Given the description of an element on the screen output the (x, y) to click on. 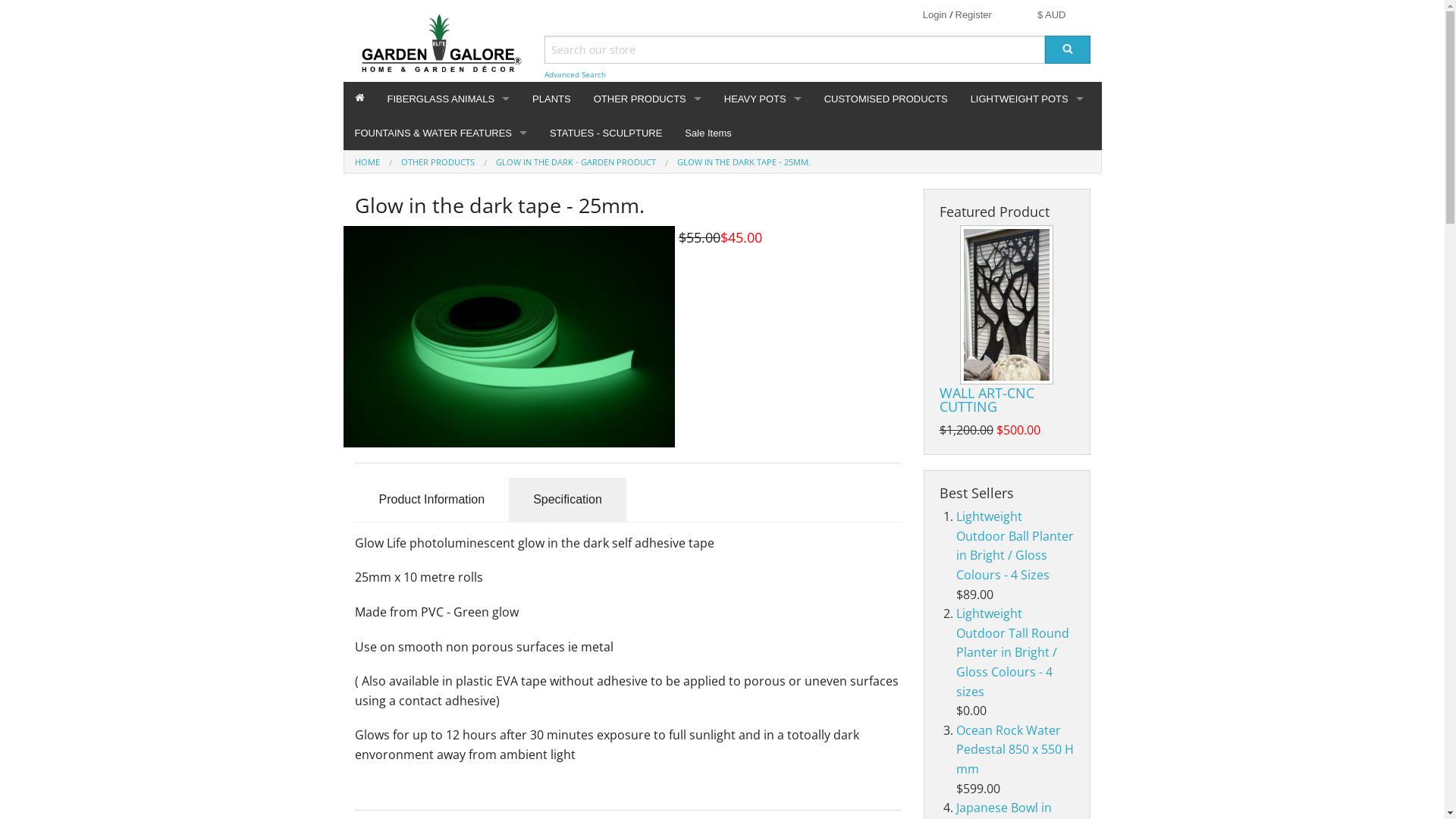
CLAY - OCEAN ROCK POTS Element type: text (762, 254)
Home Element type: hover (358, 98)
HEAVY POTS Element type: text (762, 98)
Wall Fountains & Aquarium Element type: text (440, 288)
GLOW IN THE DARK - GARDEN PRODUCT Element type: text (647, 220)
CLAY - OLD STONE POTS Element type: text (762, 220)
GRC Fountains & Water Features Element type: text (440, 220)
Product Information Element type: text (431, 499)
GLOW IN THE DARK - GARDEN PRODUCT Element type: text (575, 161)
Ocean Rock & Marble Water Fountain Element type: text (440, 322)
Register Element type: text (973, 14)
Login Element type: text (934, 14)
NEW PRODUCTS Element type: text (647, 186)
Specification Element type: text (567, 499)
CUSTOMISED PRODUCTS Element type: text (885, 98)
FIBERGLASS -BRIGHT COLOUR POTS Element type: text (1027, 151)
FIBERGLASS ANIMALS Element type: text (448, 98)
LIGHTWEIGHT POTS Element type: text (1027, 98)
Feature Urn/ Potatank. Element type: text (440, 186)
Search Element type: text (1067, 49)
FIBERGLASS TERRAZZO POTS Element type: text (1027, 220)
WALL ART-CNC CUTTING Element type: text (985, 399)
GLAZED CLAY - COLOUR POTS Element type: text (762, 151)
STATUES - SCULPTURE Element type: text (605, 133)
FURNITURE Element type: text (647, 322)
Sale Items Element type: text (707, 133)
PLANTS Element type: text (551, 98)
HOME & GARDEN DECOR Element type: text (647, 356)
VILLA SERIES POTS Element type: text (762, 288)
HOME Element type: text (366, 161)
ART & COLLECTABLES Element type: text (647, 288)
GLOW IN THE DARK TAPE - 25MM. Element type: text (742, 161)
ACCESSORIES & MISCELLANEOUS Element type: text (647, 151)
OTHER PRODUCTS Element type: text (647, 98)
FIBERGLASS ANIMALS & FIGURINES Element type: text (448, 151)
Ocean Rock Water Pedestal 850 x 550 H mm Element type: text (1014, 749)
Advanced Search Element type: text (574, 74)
TERRACOTTA PLANTERS Element type: text (762, 186)
GRC POTS Element type: text (1027, 186)
WALL ART Element type: text (647, 254)
FOUNTAINS & WATER FEATURES Element type: text (440, 133)
OTHER PRODUCTS Element type: text (436, 161)
Small Bronze Fountain Element type: text (440, 254)
WALL ART-CNC CUTTING Element type: hover (1006, 304)
